Given the description of an element on the screen output the (x, y) to click on. 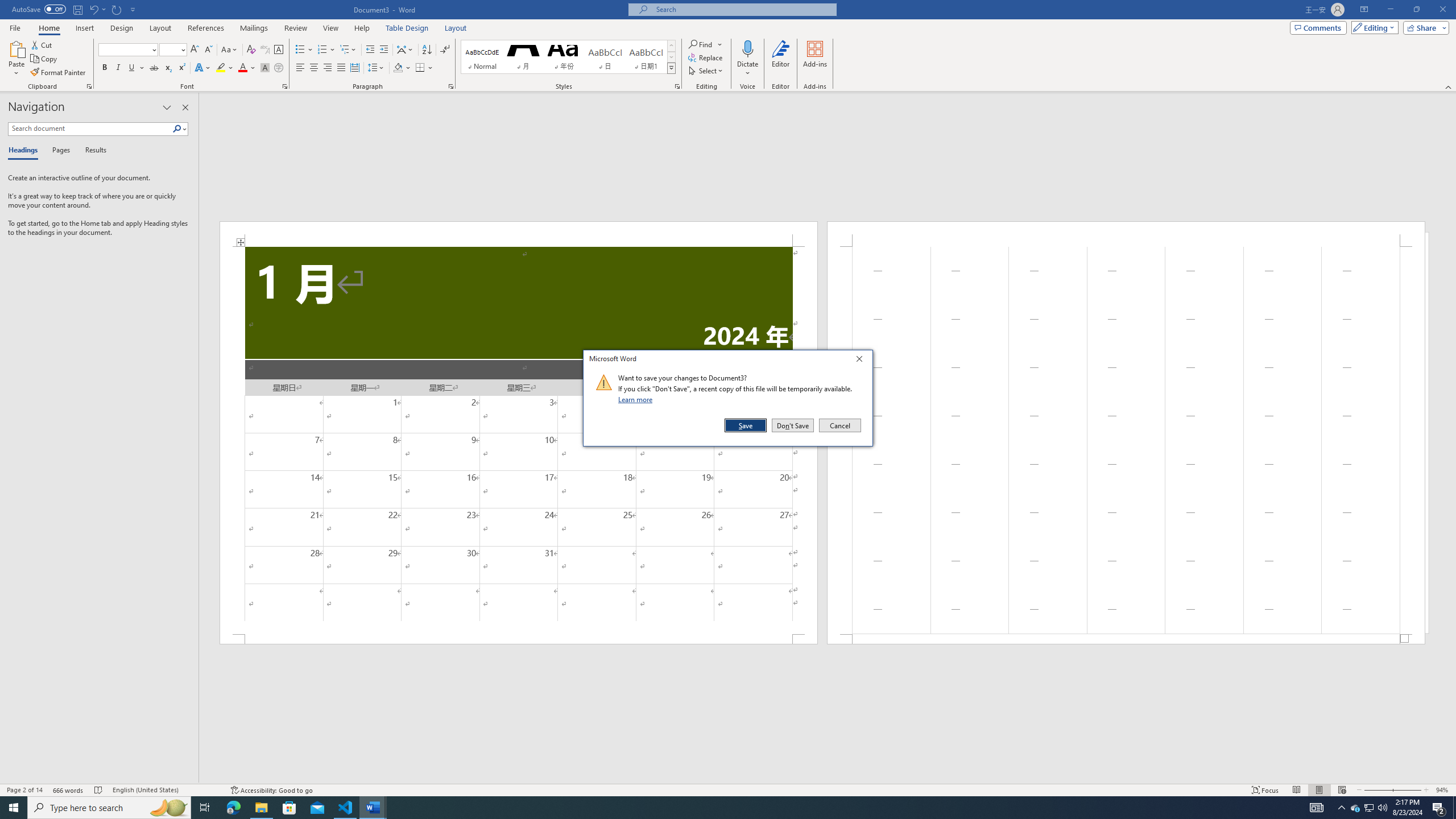
Table Design (407, 28)
Accessibility Checker Accessibility: Good to go (271, 790)
Align Left (300, 67)
Running applications (717, 807)
Office Clipboard... (88, 85)
Font Color RGB(255, 0, 0) (241, 67)
Text Highlight Color Yellow (220, 67)
Bold (104, 67)
Numbering (322, 49)
References (205, 28)
File Explorer - 1 running window (261, 807)
Row up (670, 45)
Distributed (354, 67)
Format Painter (58, 72)
